Given the description of an element on the screen output the (x, y) to click on. 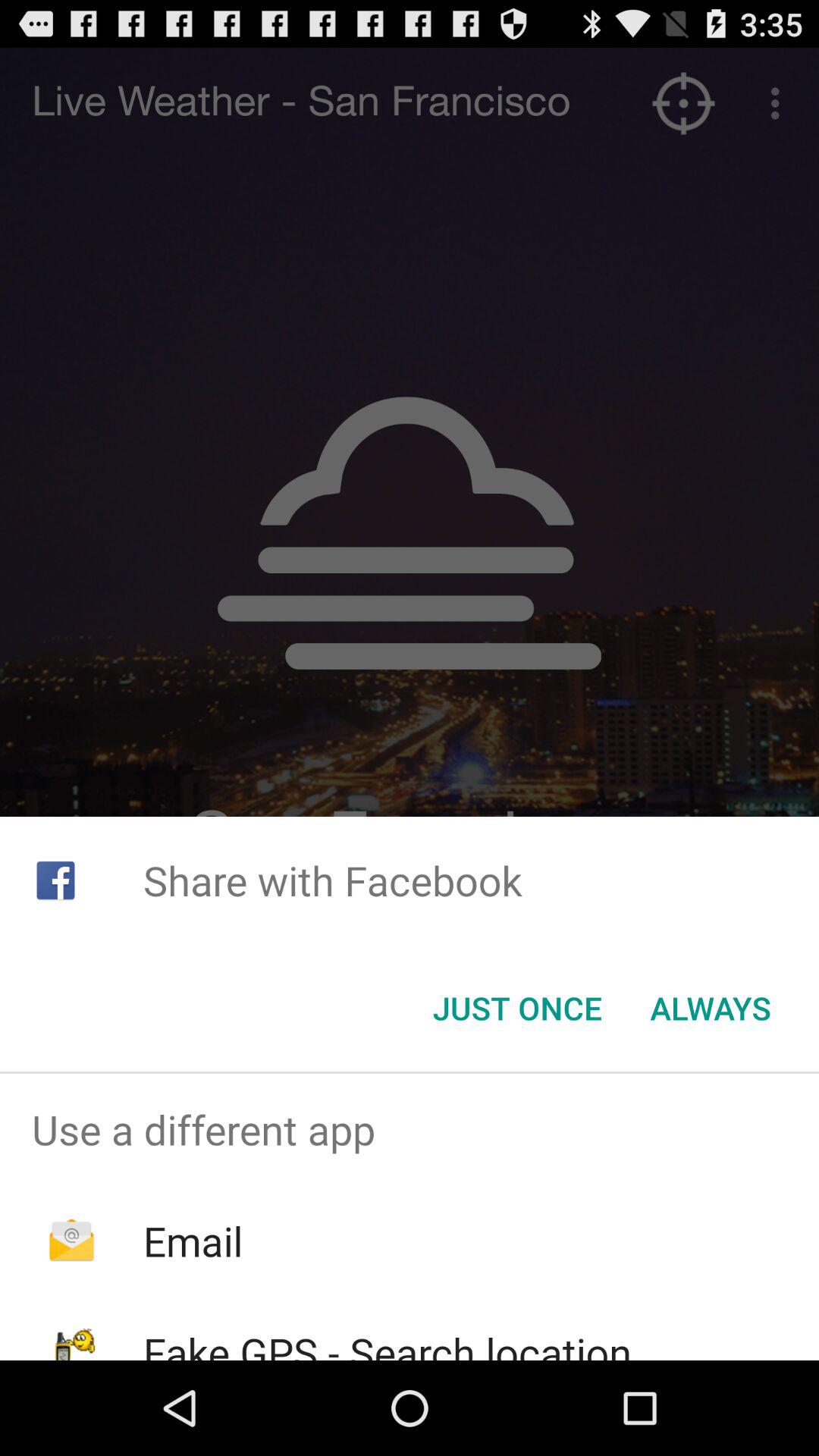
launch item above the fake gps search app (192, 1240)
